Given the description of an element on the screen output the (x, y) to click on. 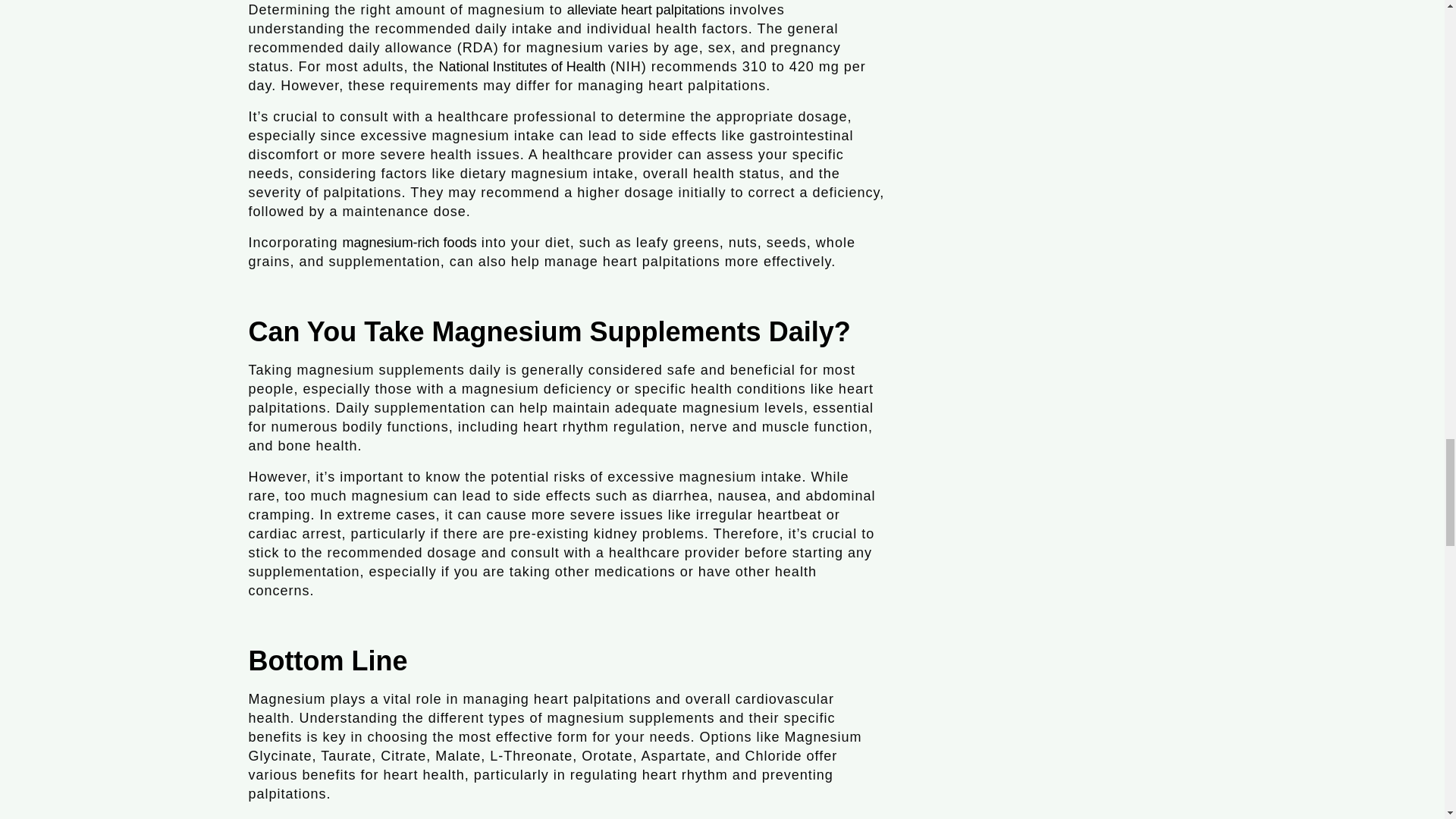
alleviate heart palpitations (646, 9)
magnesium-rich foods (409, 242)
National Institutes of Health (522, 66)
